Given the description of an element on the screen output the (x, y) to click on. 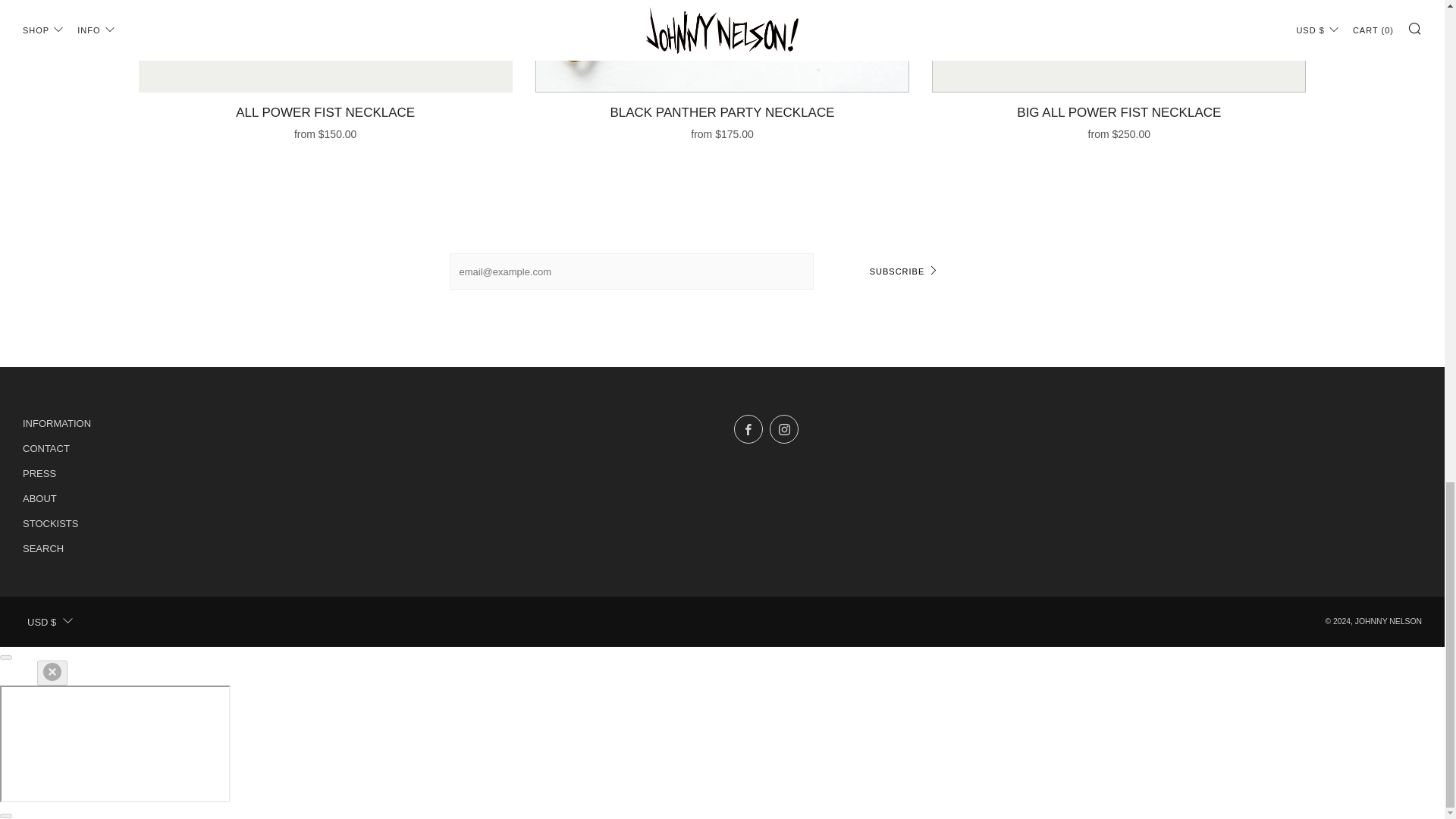
ALL POWER FIST NECKLACE (325, 46)
ALL POWER FIST NECKLACE (325, 120)
BLACK PANTHER PARTY NECKLACE (721, 120)
BIG ALL POWER FIST NECKLACE (1118, 46)
BLACK PANTHER PARTY NECKLACE (721, 46)
BIG ALL POWER FIST NECKLACE (1118, 120)
